Given the description of an element on the screen output the (x, y) to click on. 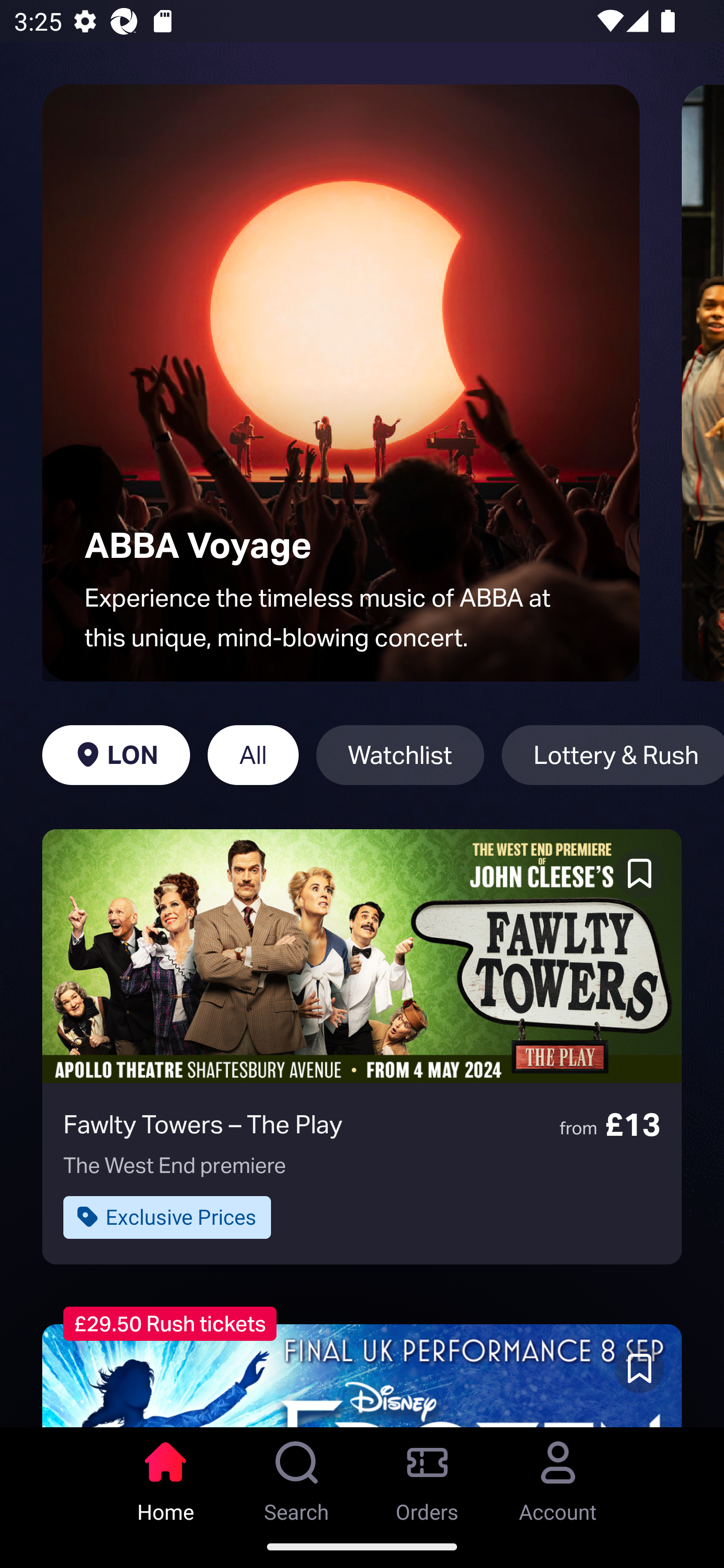
LON (115, 754)
All (252, 754)
Watchlist (400, 754)
Lottery & Rush (612, 754)
Search (296, 1475)
Orders (427, 1475)
Account (558, 1475)
